Given the description of an element on the screen output the (x, y) to click on. 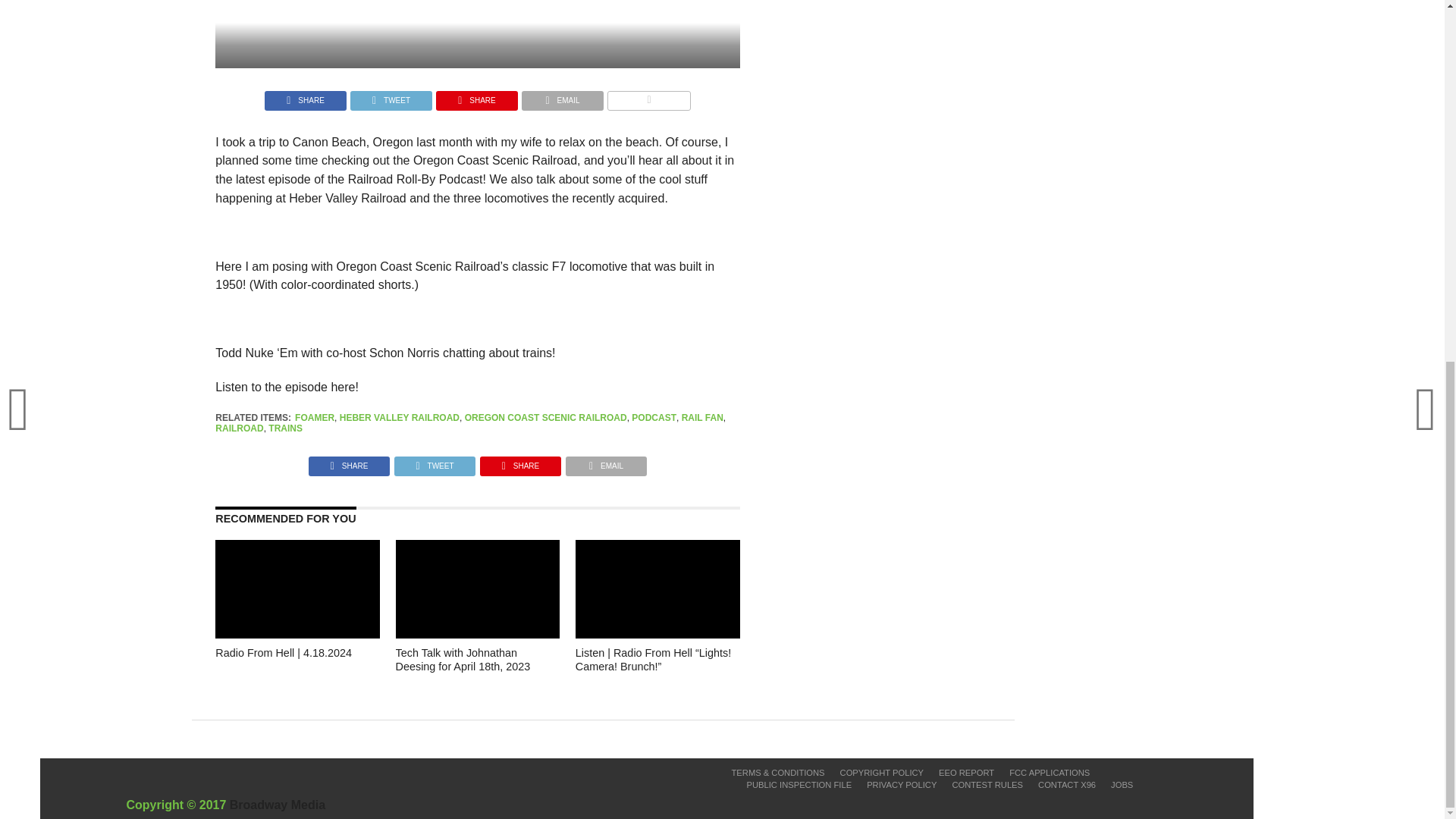
Pin This Post (476, 96)
Share on Facebook (305, 96)
Tweet This Post (434, 461)
RailroadRollBy - X96 (477, 33)
Tweet This Post (390, 96)
Share on Facebook (349, 461)
